Given the description of an element on the screen output the (x, y) to click on. 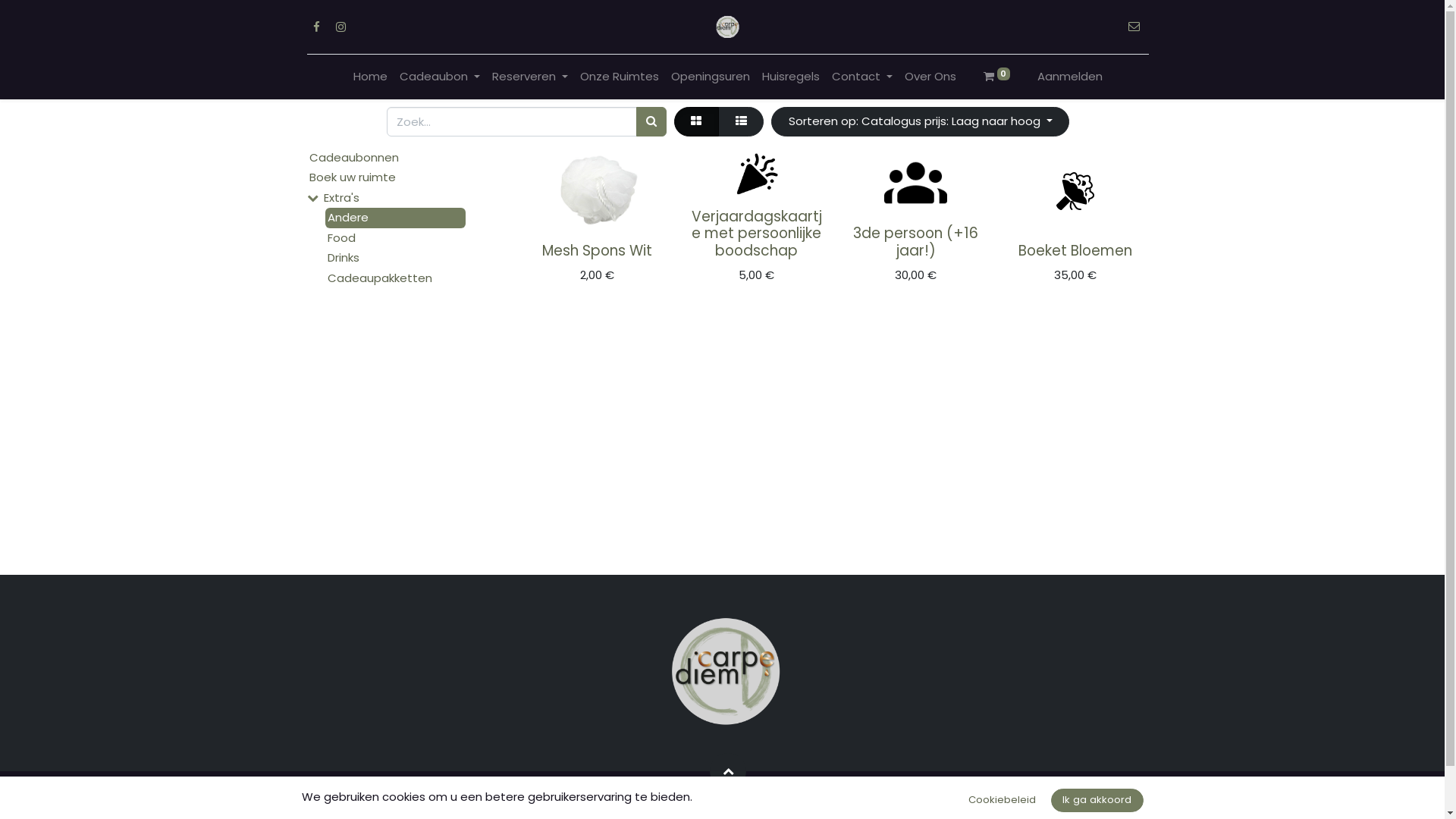
MijnBedrijf Element type: hover (727, 672)
Verjaardagskaartje met persoonlijke boodschap Element type: text (756, 233)
Winkelmandje Element type: hover (938, 214)
Scroll naar boven Element type: hover (727, 771)
Boek uw ruimte Element type: text (384, 177)
Ik ga akkoord Element type: text (1097, 800)
Mesh Spons Wit Element type: text (597, 250)
Zoek Element type: hover (651, 121)
Cadeaubonnen Element type: text (384, 157)
Unfold Element type: hover (312, 197)
Carpe Diem Aarschot Element type: hover (727, 27)
Boeket Bloemen Element type: text (1074, 250)
Food Element type: text (395, 238)
Sorteren op: Catalogus prijs: Laag naar hoog Element type: text (920, 121)
Lijst Element type: hover (740, 121)
Winkelmandje Element type: hover (1097, 230)
Winkelmandje Element type: hover (619, 230)
3de persoon (+16 jaar!) Element type: text (915, 241)
Extra's Element type: text (398, 198)
Winkelmandje Element type: hover (778, 196)
Andere Element type: text (395, 217)
Drinks Element type: text (395, 257)
Cookiebeleid Element type: text (1002, 800)
Cadeaupakketten Element type: text (395, 278)
Matrix Element type: hover (696, 121)
Aanmelden Element type: text (1069, 76)
